Given the description of an element on the screen output the (x, y) to click on. 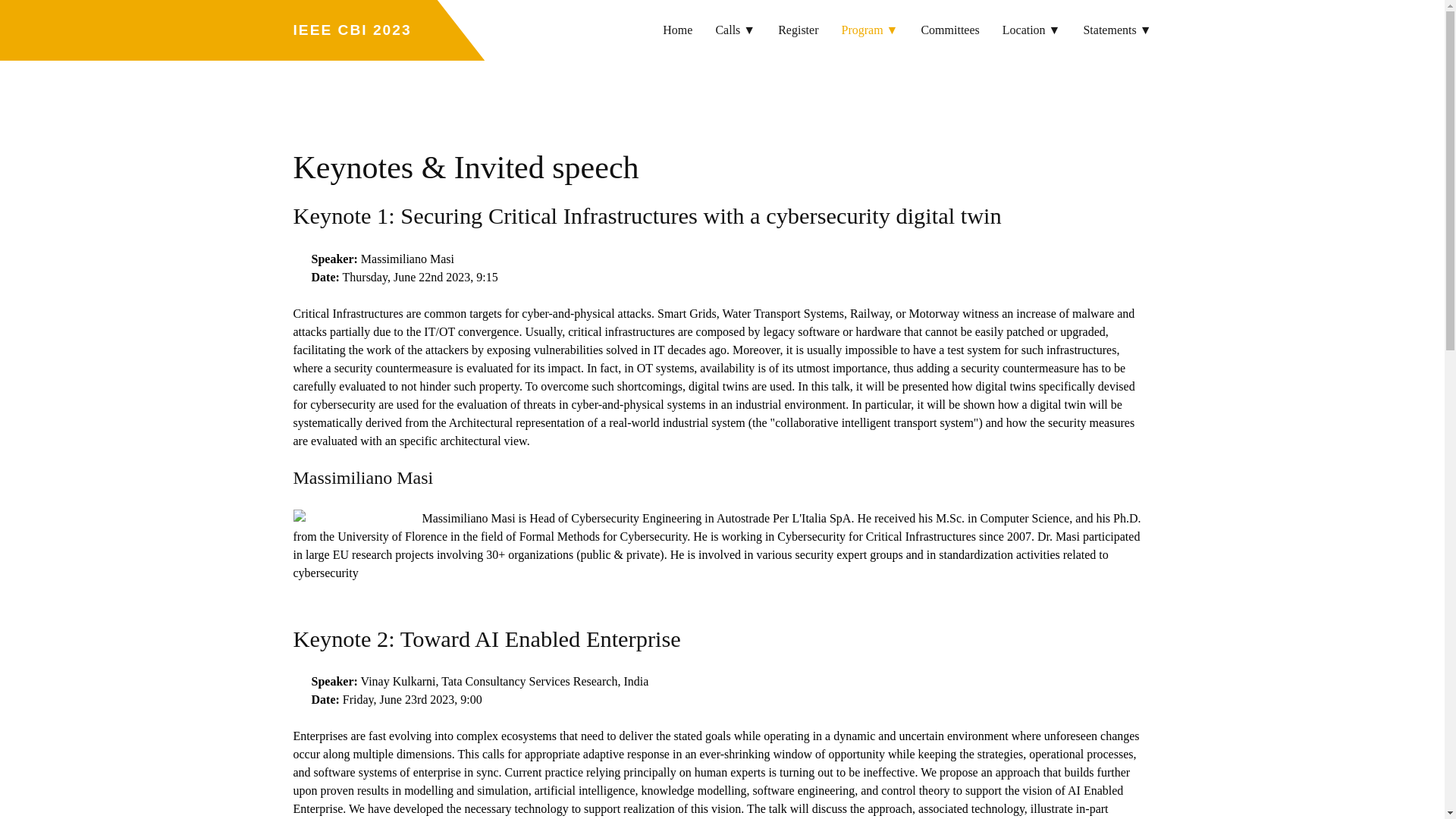
Register (798, 30)
Committees (949, 30)
IEEE CBI 2023 (352, 30)
IEEE CBI 2023 (352, 30)
